Given the description of an element on the screen output the (x, y) to click on. 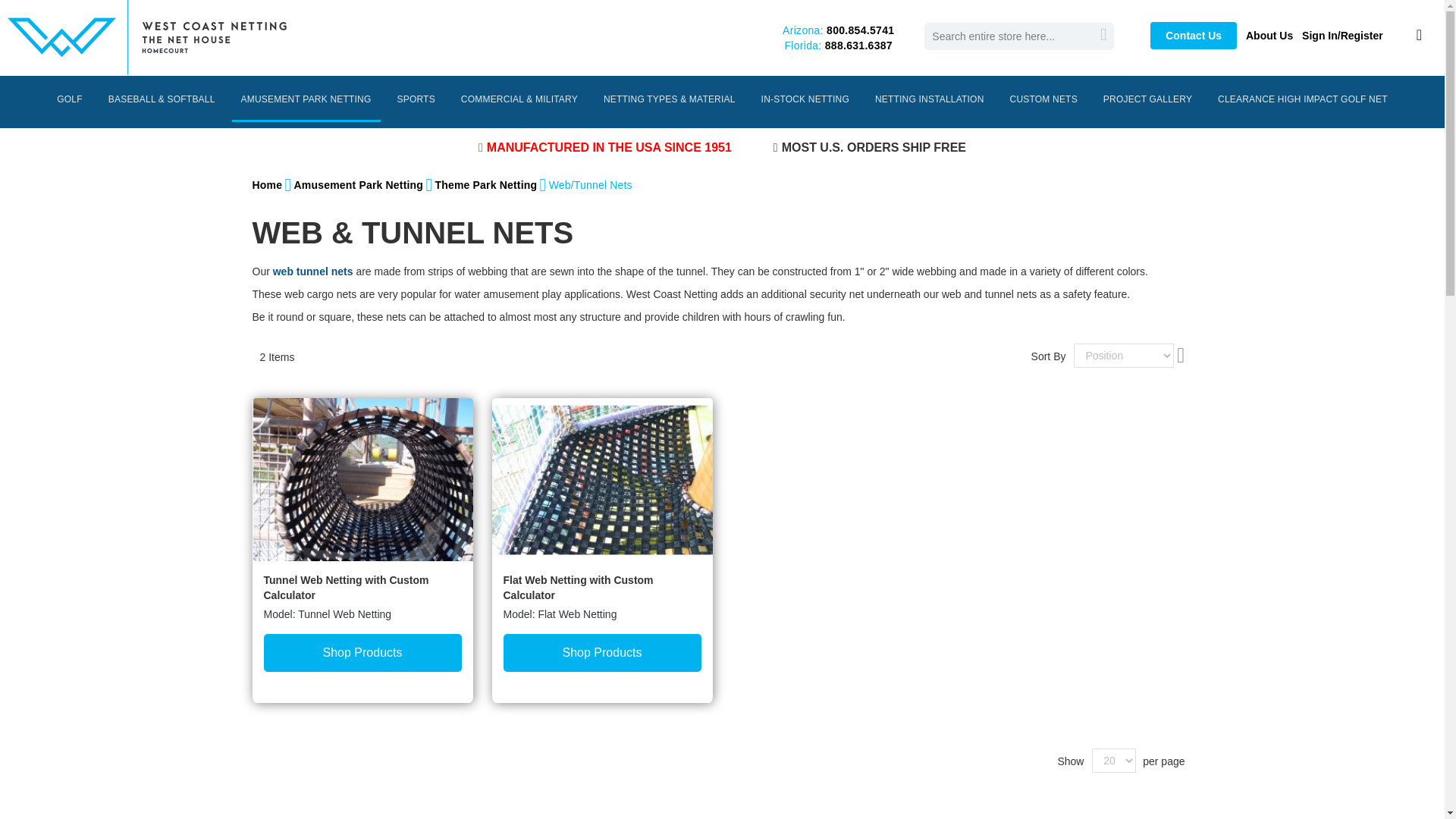
Shop Products (362, 652)
GOLF (69, 99)
Contact Us (1193, 35)
About Us (1269, 35)
888.631.6387 (858, 45)
800.854.5741 (860, 30)
AMUSEMENT PARK NETTING (305, 100)
Go to Home Page (266, 184)
Shop Products (602, 652)
